Given the description of an element on the screen output the (x, y) to click on. 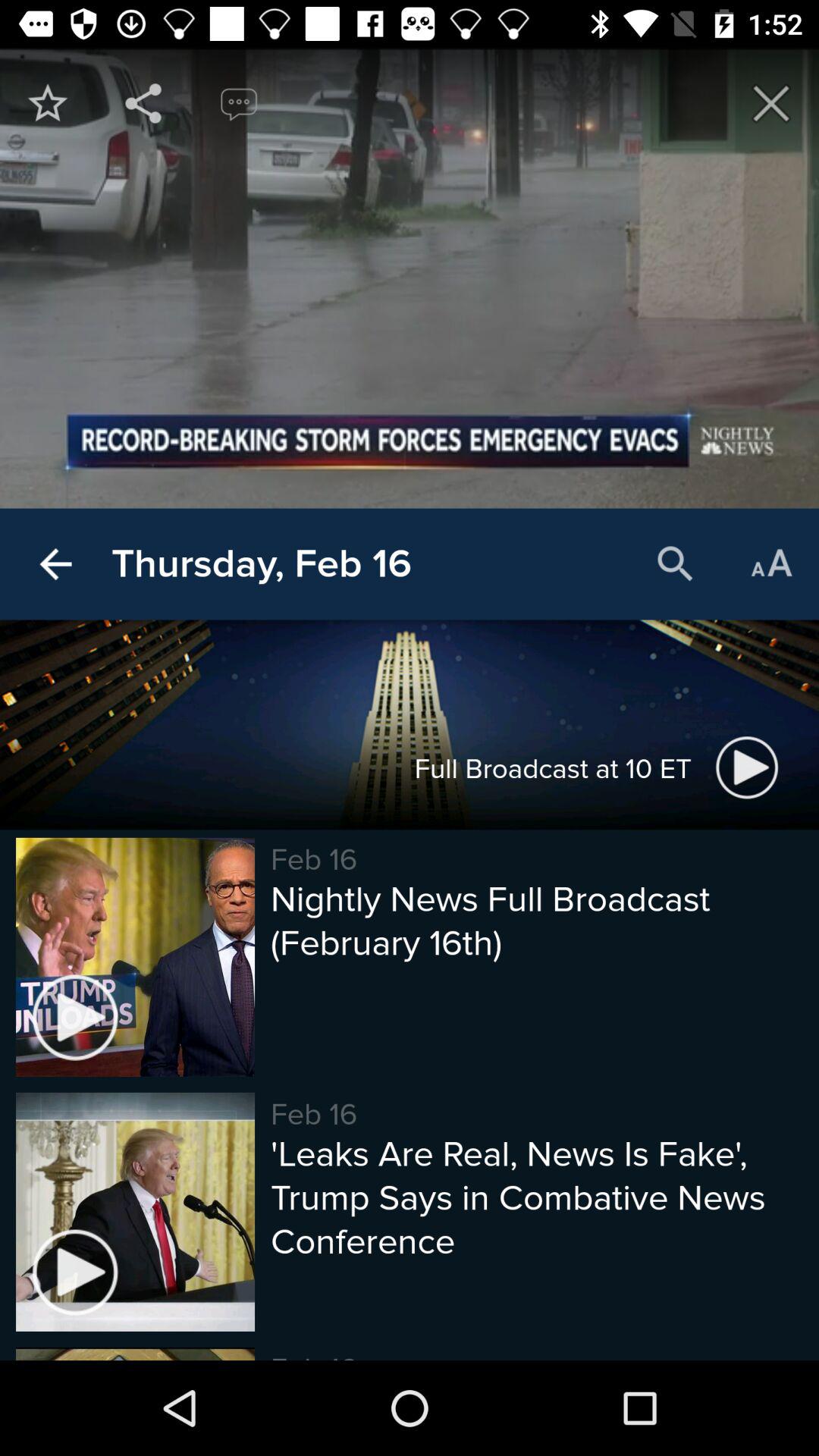
choose item next to thursday, feb 16 (675, 563)
